Given the description of an element on the screen output the (x, y) to click on. 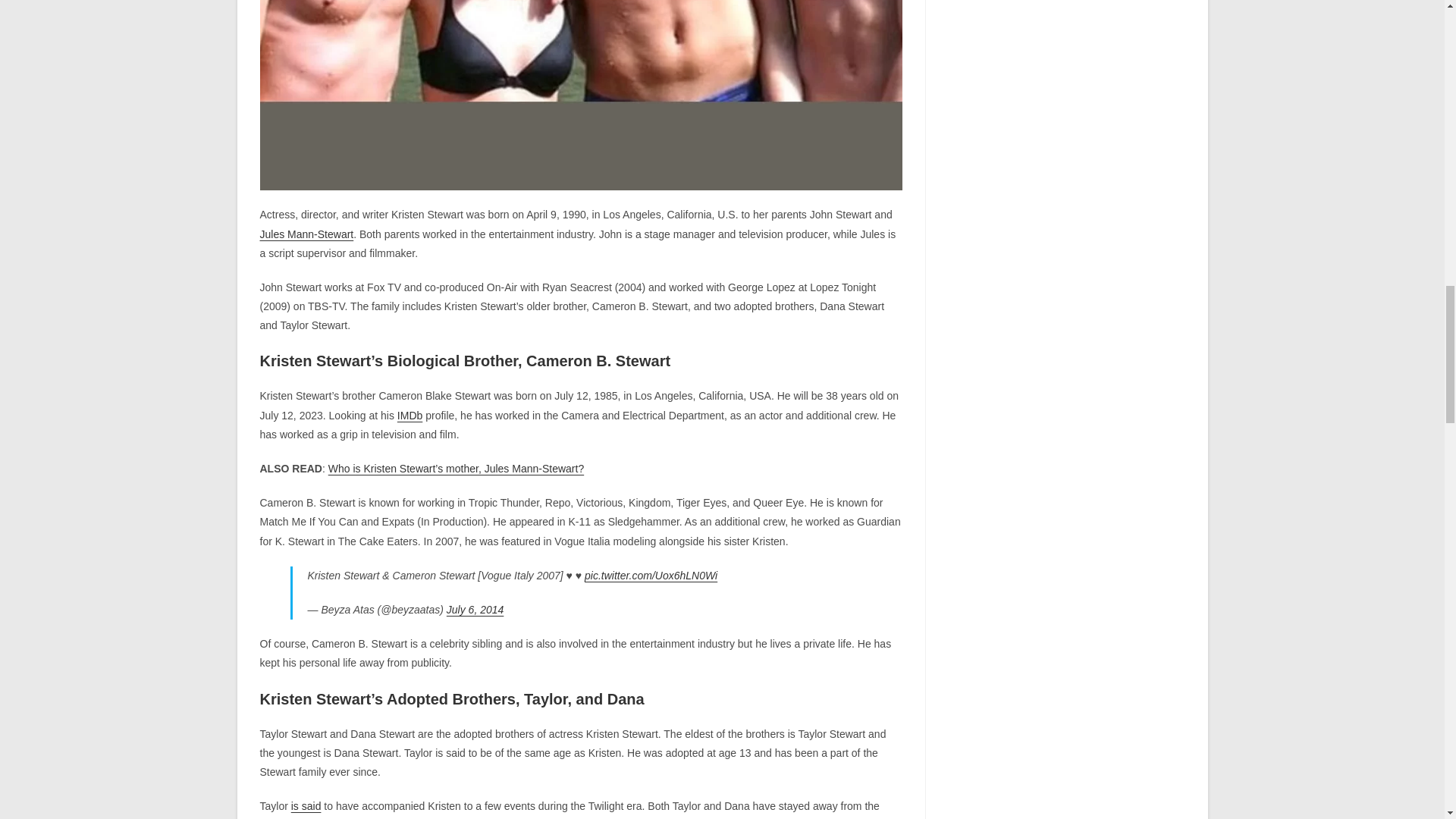
Jules Mann-Stewart (306, 233)
July 6, 2014 (474, 609)
is said (306, 806)
IMDb (409, 415)
